Given the description of an element on the screen output the (x, y) to click on. 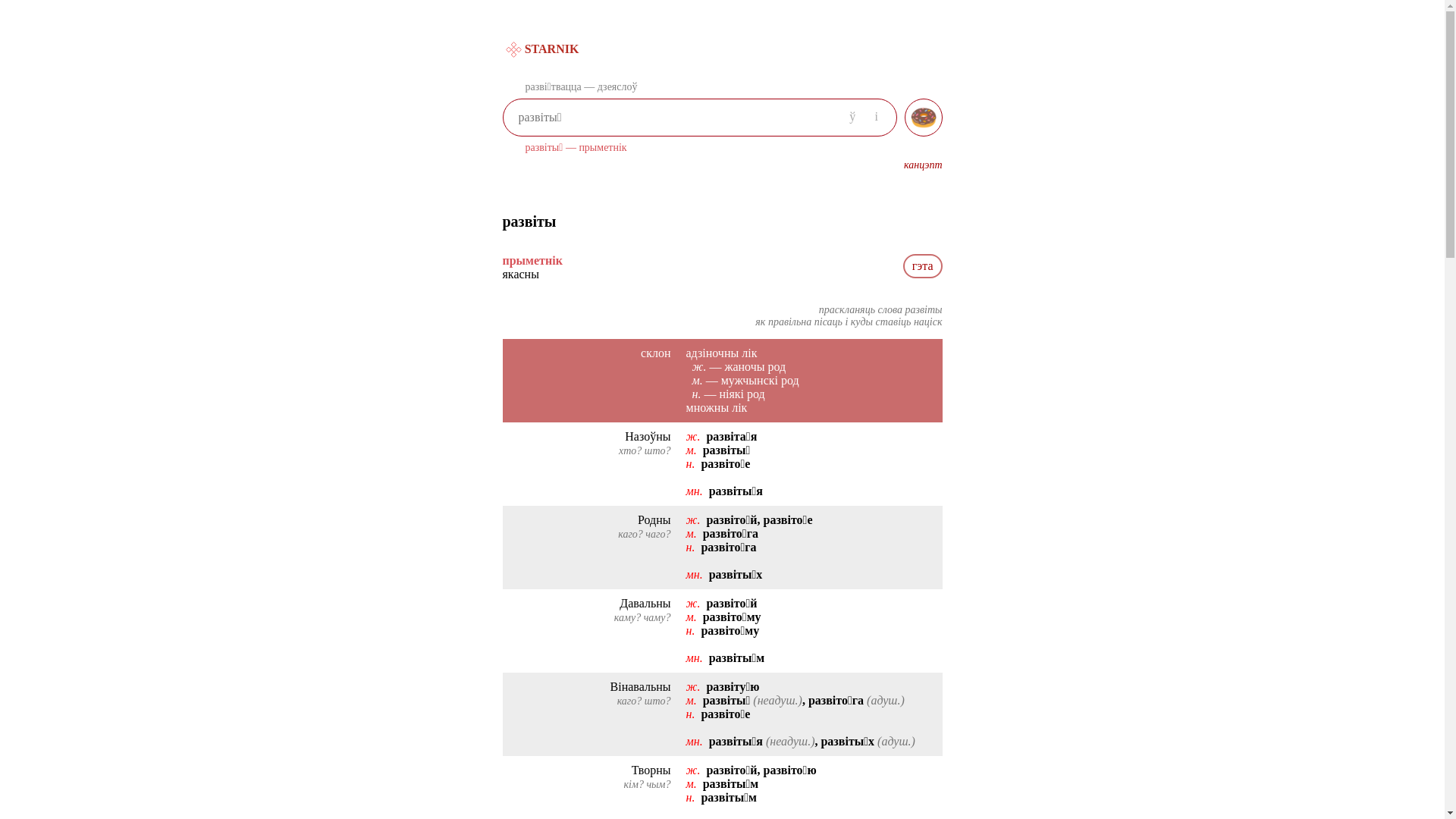
STARNIK Element type: text (543, 48)
